Given the description of an element on the screen output the (x, y) to click on. 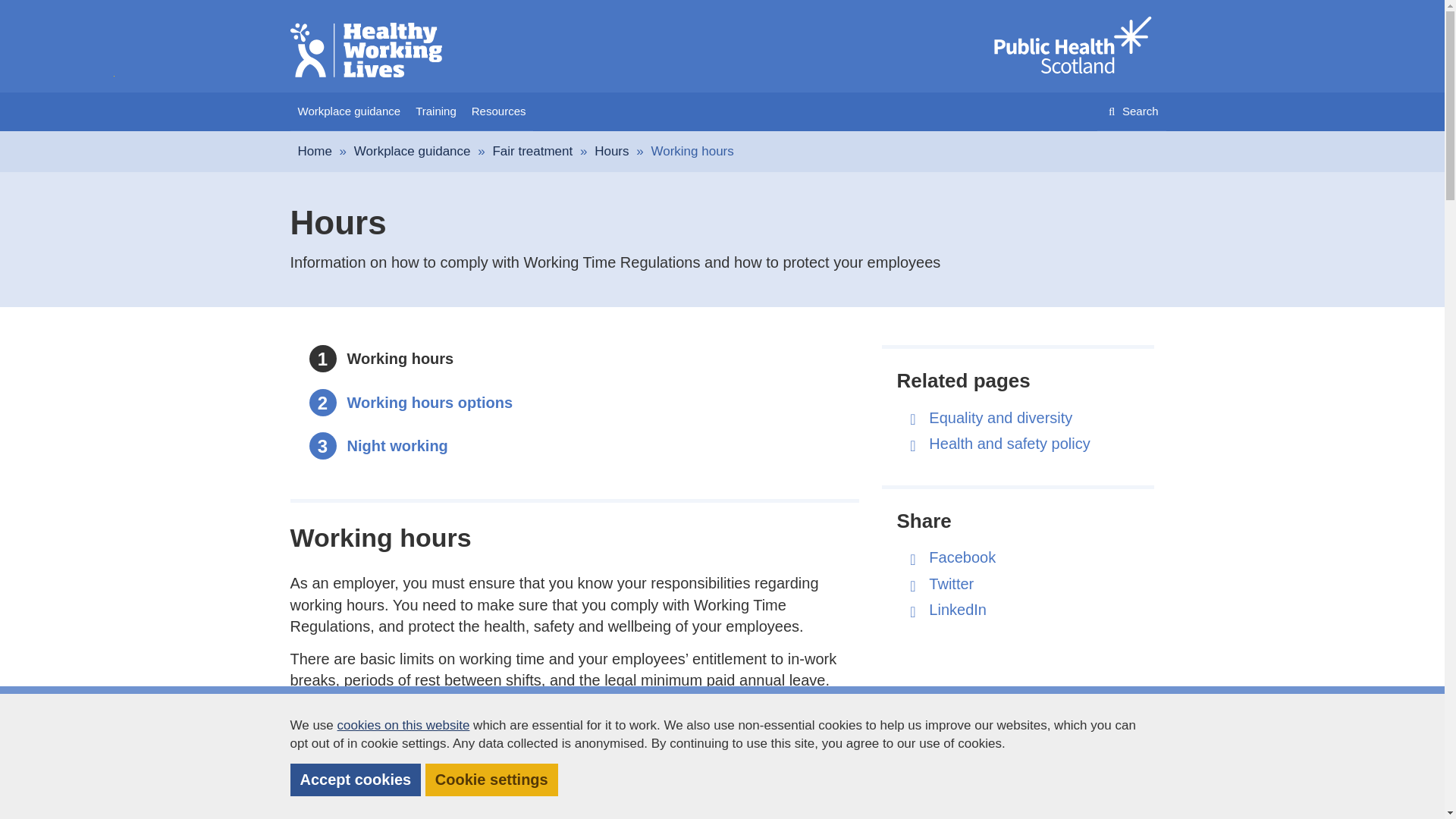
Resources (499, 111)
Facebook (961, 556)
Working hours (400, 358)
Home (400, 358)
Training (314, 151)
Search (435, 111)
Working hours options (1131, 111)
Hours (430, 402)
Workplace guidance (611, 151)
Visit Public Health Scotland (430, 402)
Workplace guidance (411, 151)
Accept cookies (1070, 45)
Equality and diversity (348, 111)
